Given the description of an element on the screen output the (x, y) to click on. 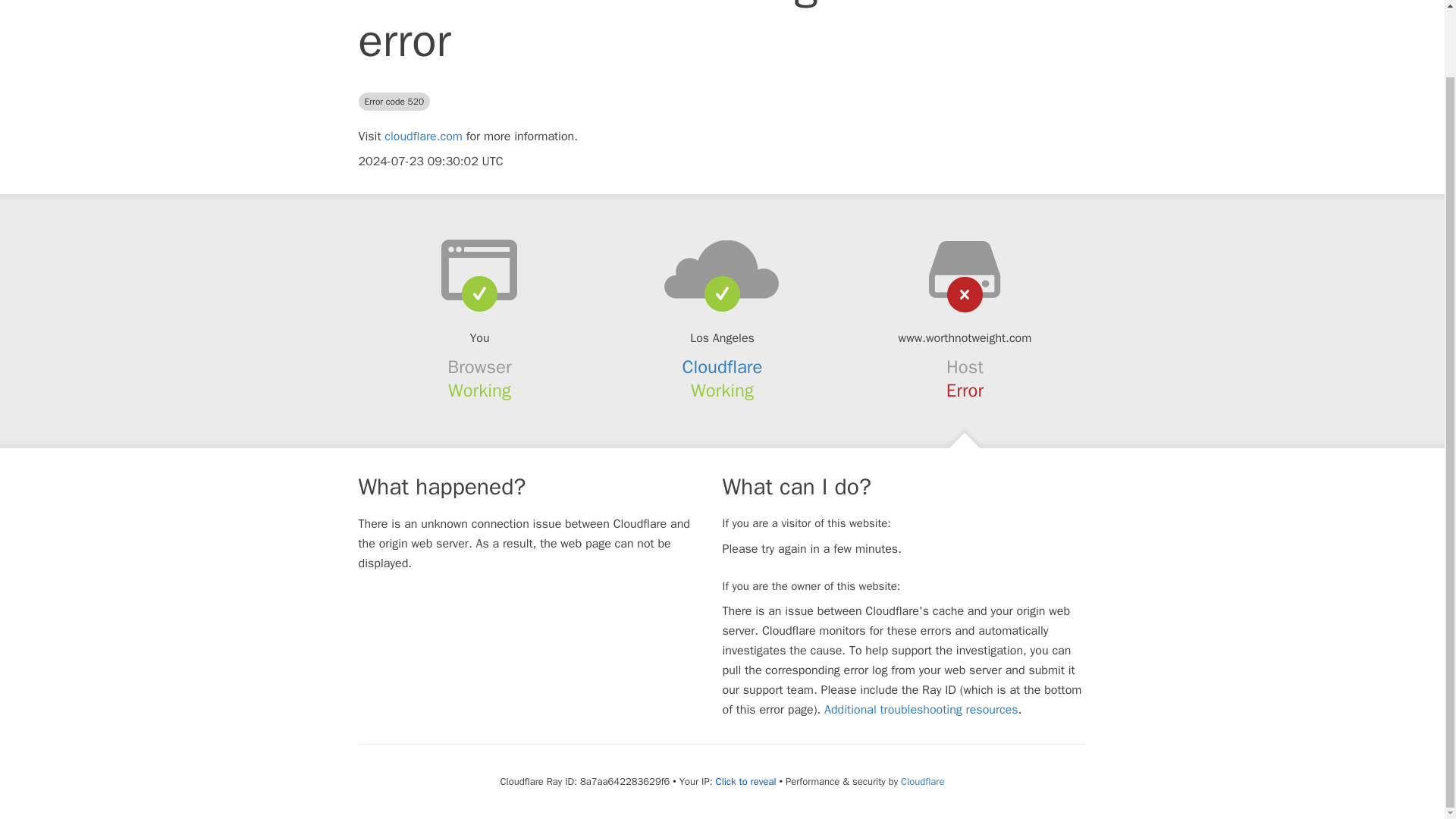
Cloudflare (722, 366)
Click to reveal (746, 781)
Cloudflare (922, 780)
Additional troubleshooting resources (920, 709)
cloudflare.com (423, 136)
